Given the description of an element on the screen output the (x, y) to click on. 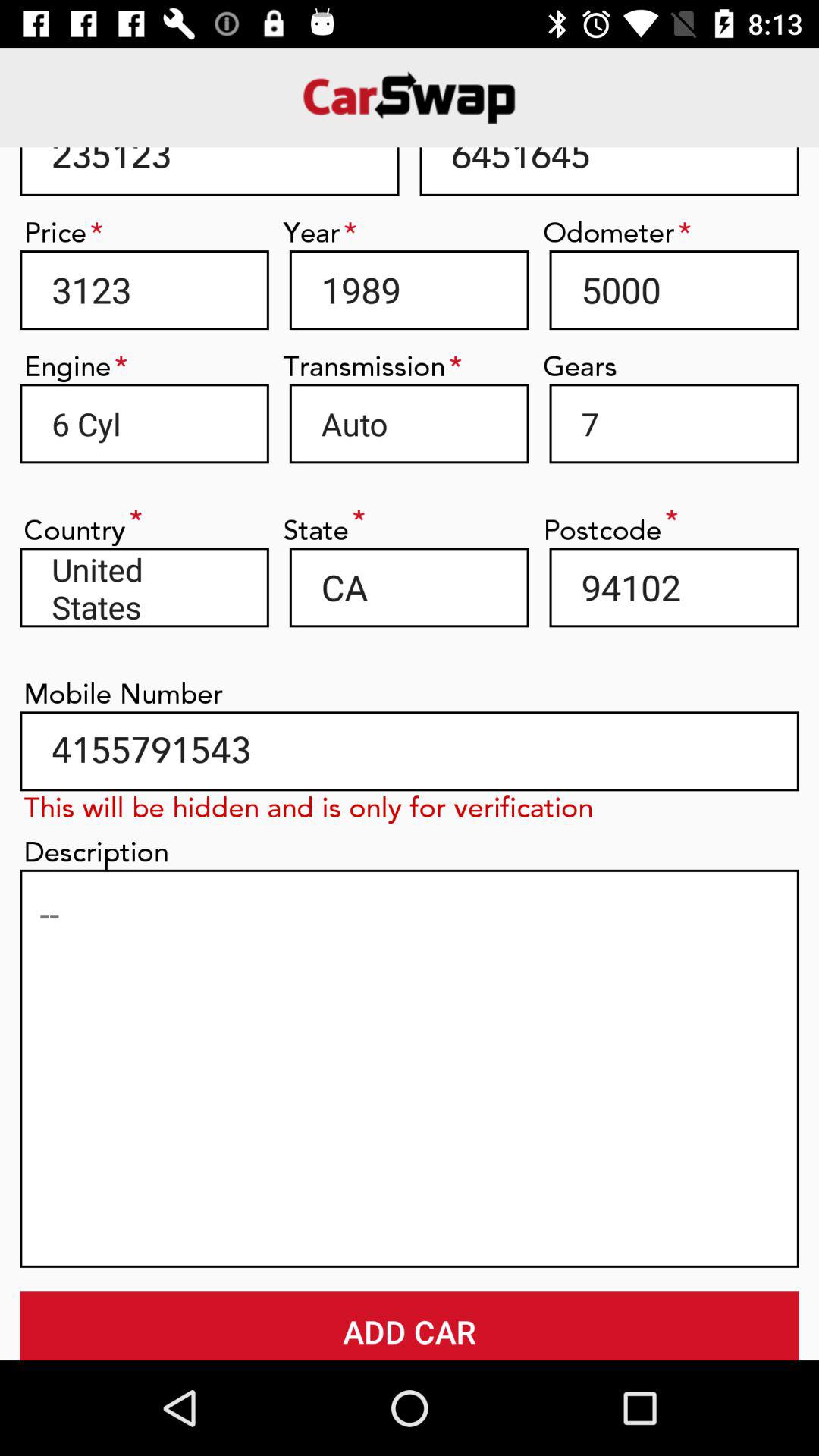
turn on item above the gears (674, 289)
